Given the description of an element on the screen output the (x, y) to click on. 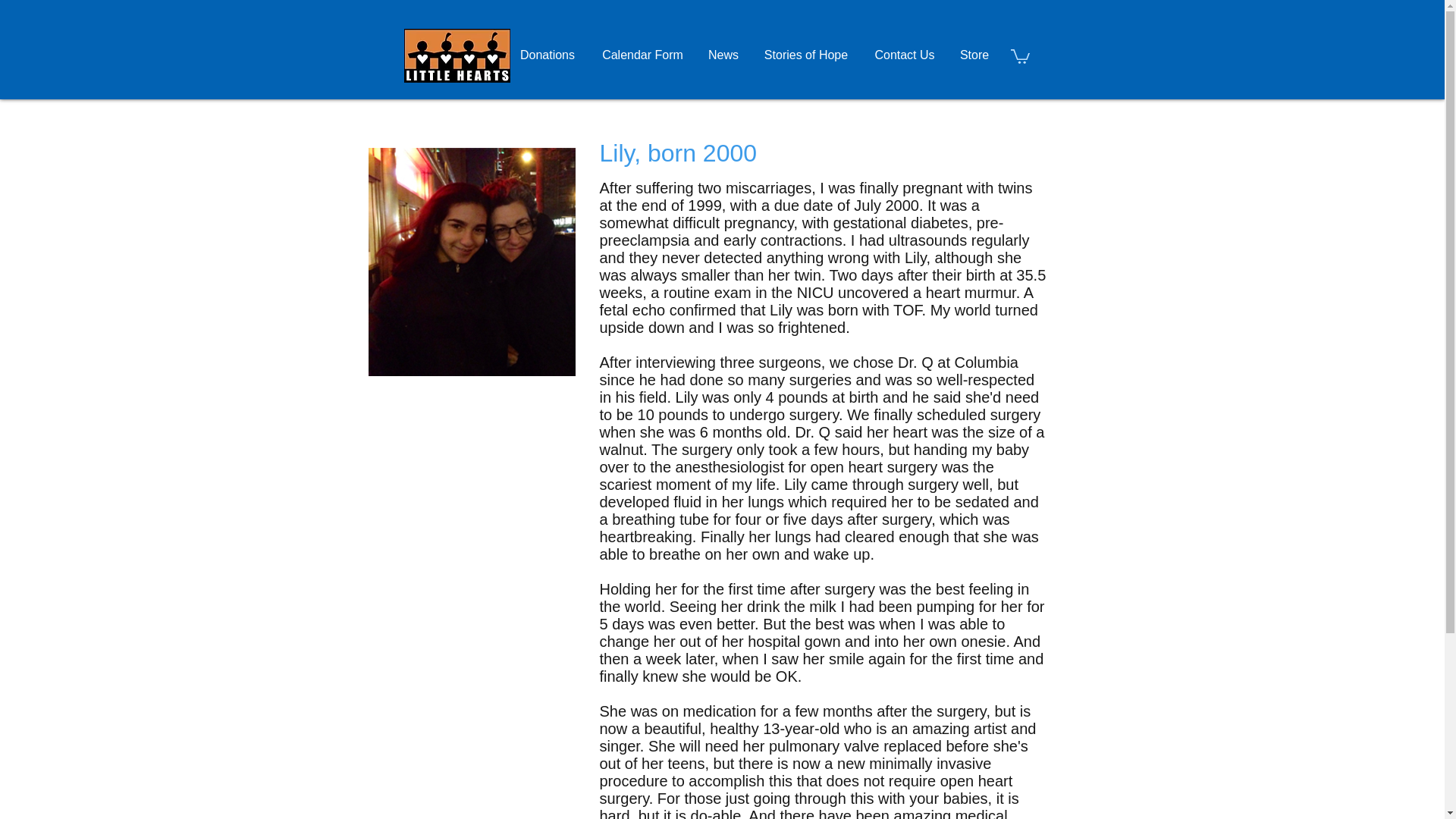
Store (974, 54)
News (722, 54)
Stories of Hope (806, 54)
Calendar Form (641, 54)
Donations (547, 54)
Contact Us (904, 54)
